Given the description of an element on the screen output the (x, y) to click on. 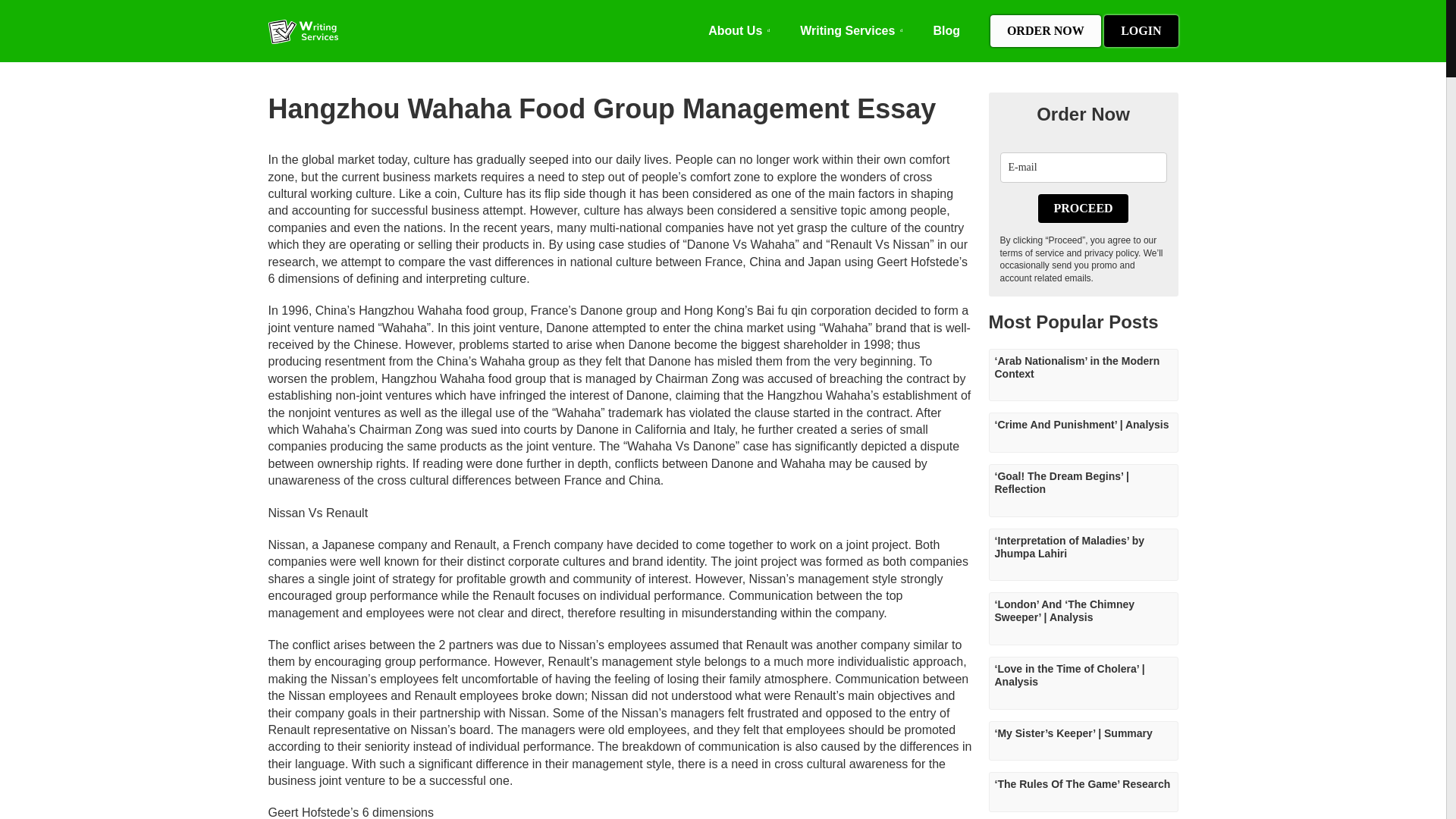
Proceed (1082, 208)
LOGIN (1140, 30)
ORDER NOW (1045, 30)
Blog (946, 30)
Proceed (1082, 208)
